Given the description of an element on the screen output the (x, y) to click on. 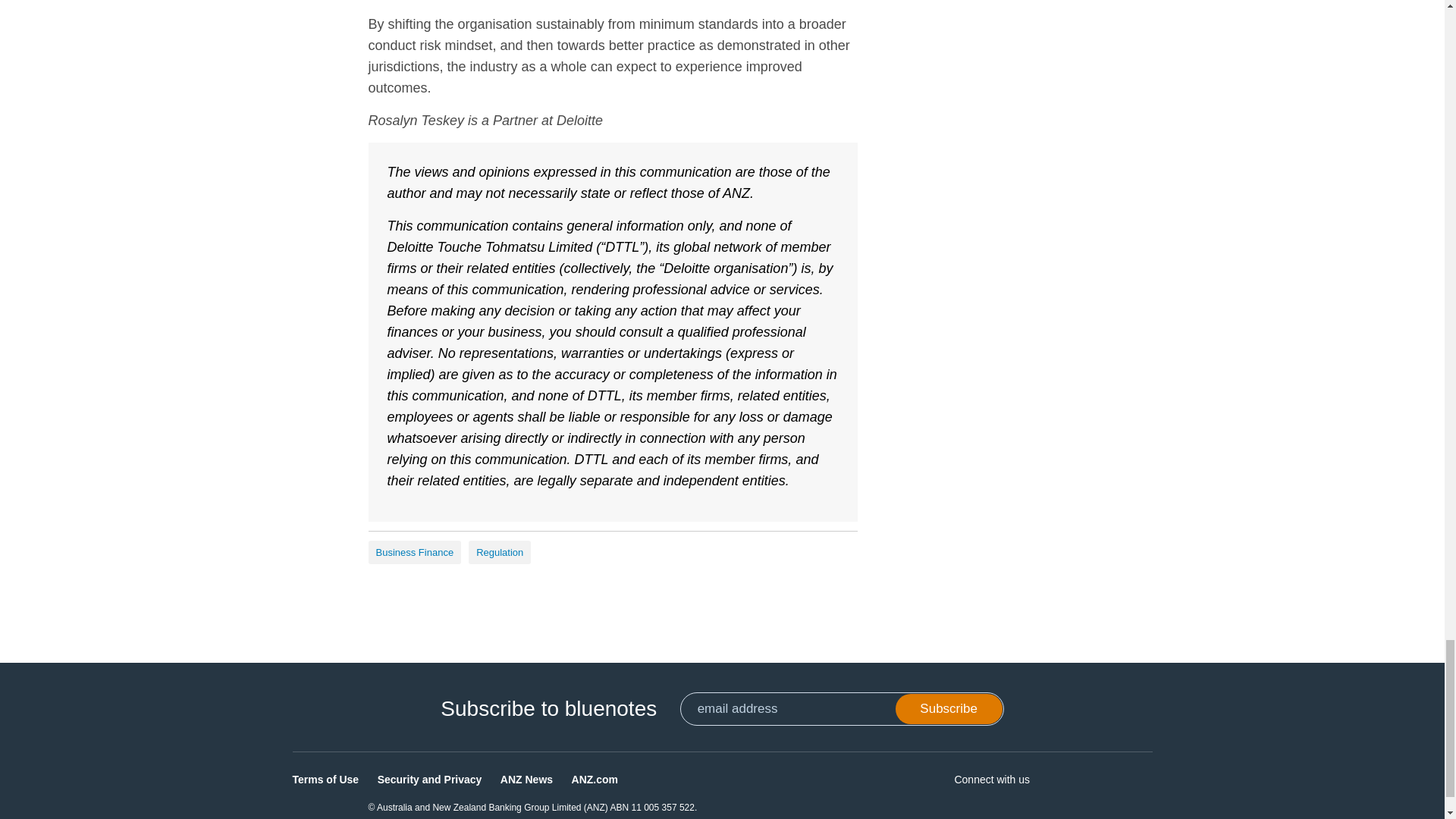
Business Finance (414, 552)
Security and Privacy (429, 779)
Regulation (499, 552)
ANZ News (526, 779)
Terms of Use (325, 779)
ANZ.com (594, 779)
